Given the description of an element on the screen output the (x, y) to click on. 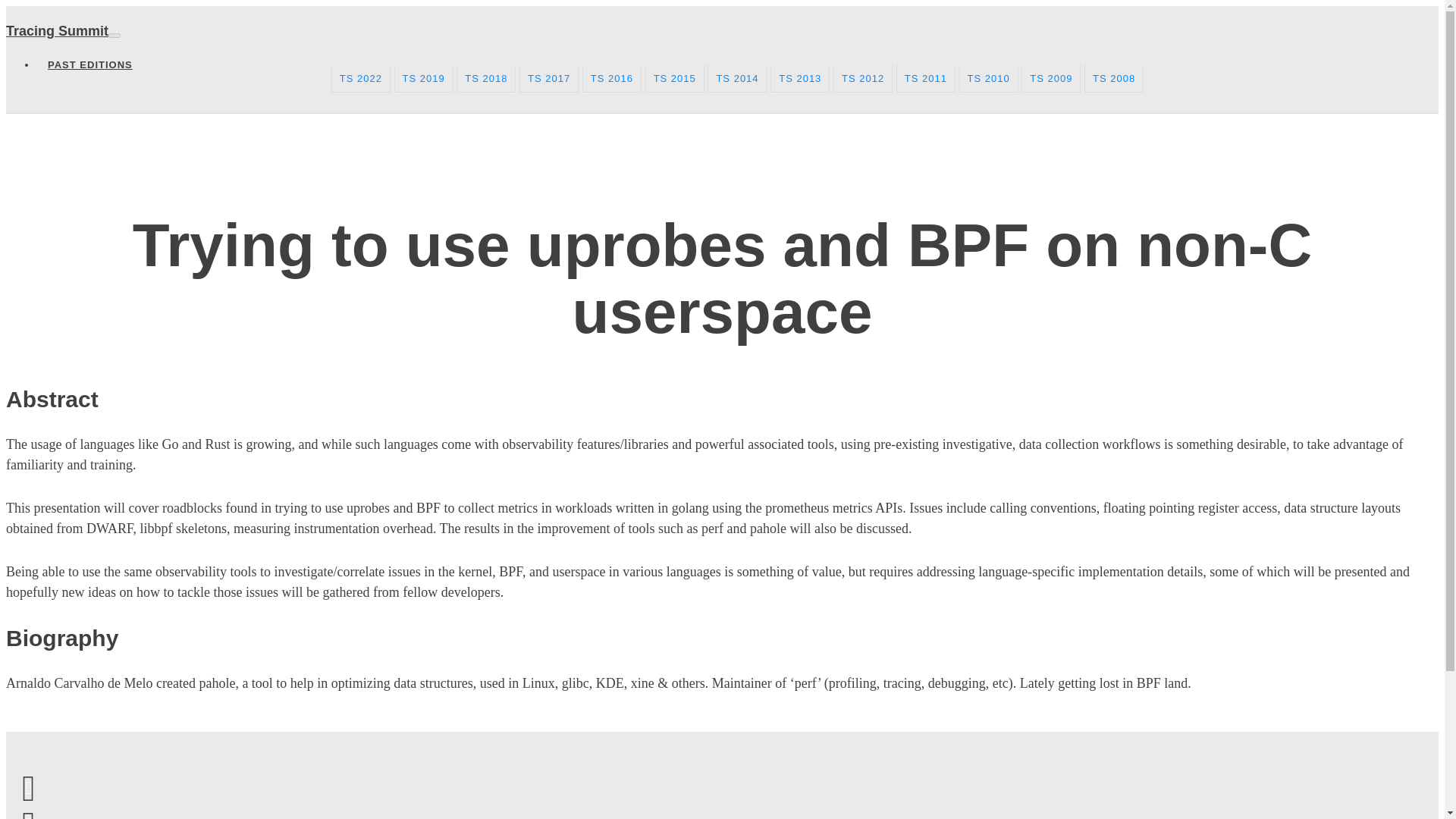
Email me (27, 786)
Email me (27, 786)
TS 2016 (612, 78)
TS 2019 (423, 78)
TS 2009 (1051, 78)
TS 2011 (925, 78)
TS 2013 (799, 78)
Tracing Summit (56, 30)
TS 2010 (988, 78)
TS 2012 (862, 78)
TS 2018 (486, 78)
TS 2015 (674, 78)
PAST EDITIONS (90, 64)
TS 2008 (1113, 78)
TS 2022 (360, 78)
